Given the description of an element on the screen output the (x, y) to click on. 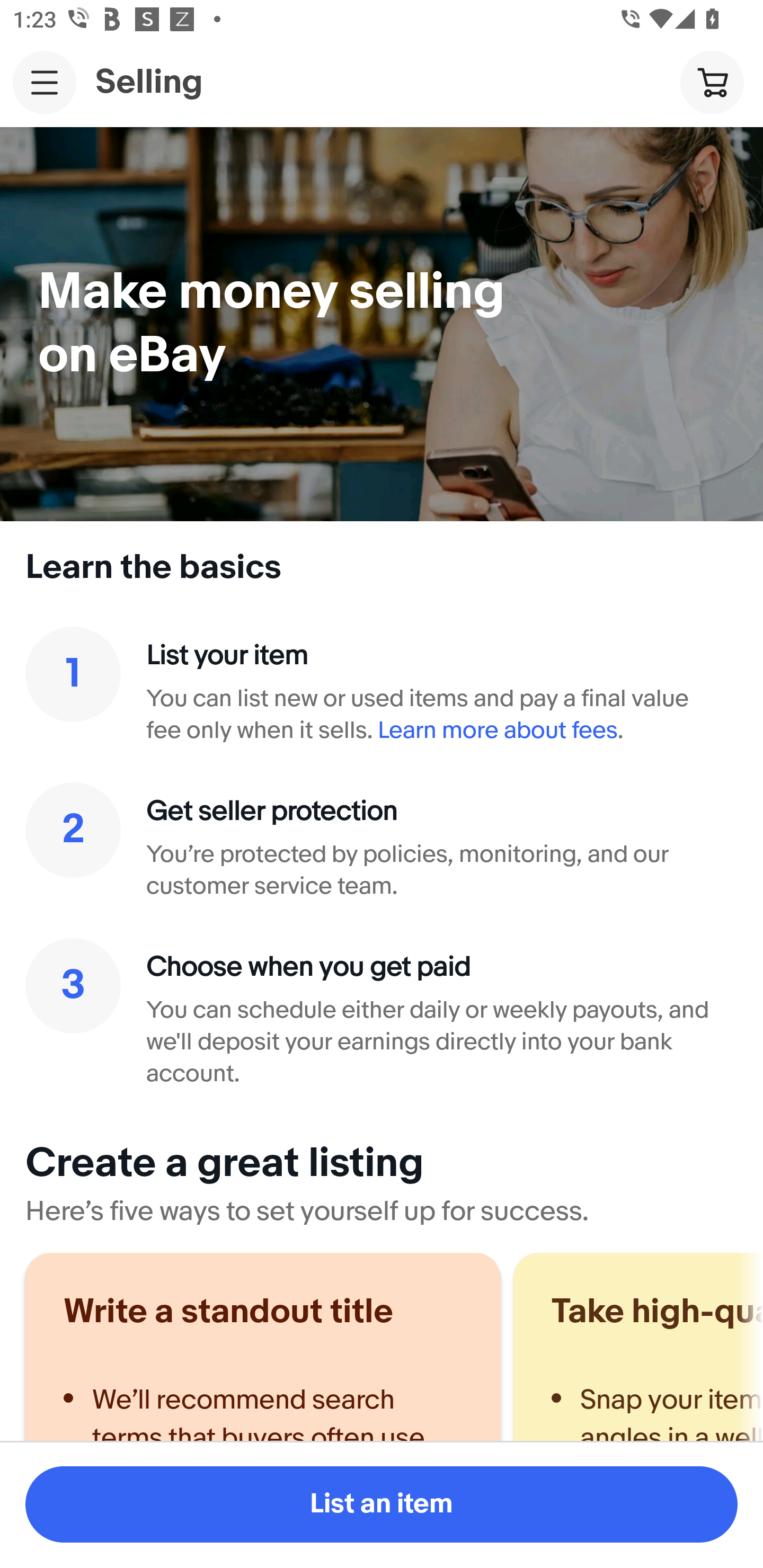
Main navigation, open (44, 82)
Cart button shopping cart (711, 81)
List an item (381, 1504)
